Given the description of an element on the screen output the (x, y) to click on. 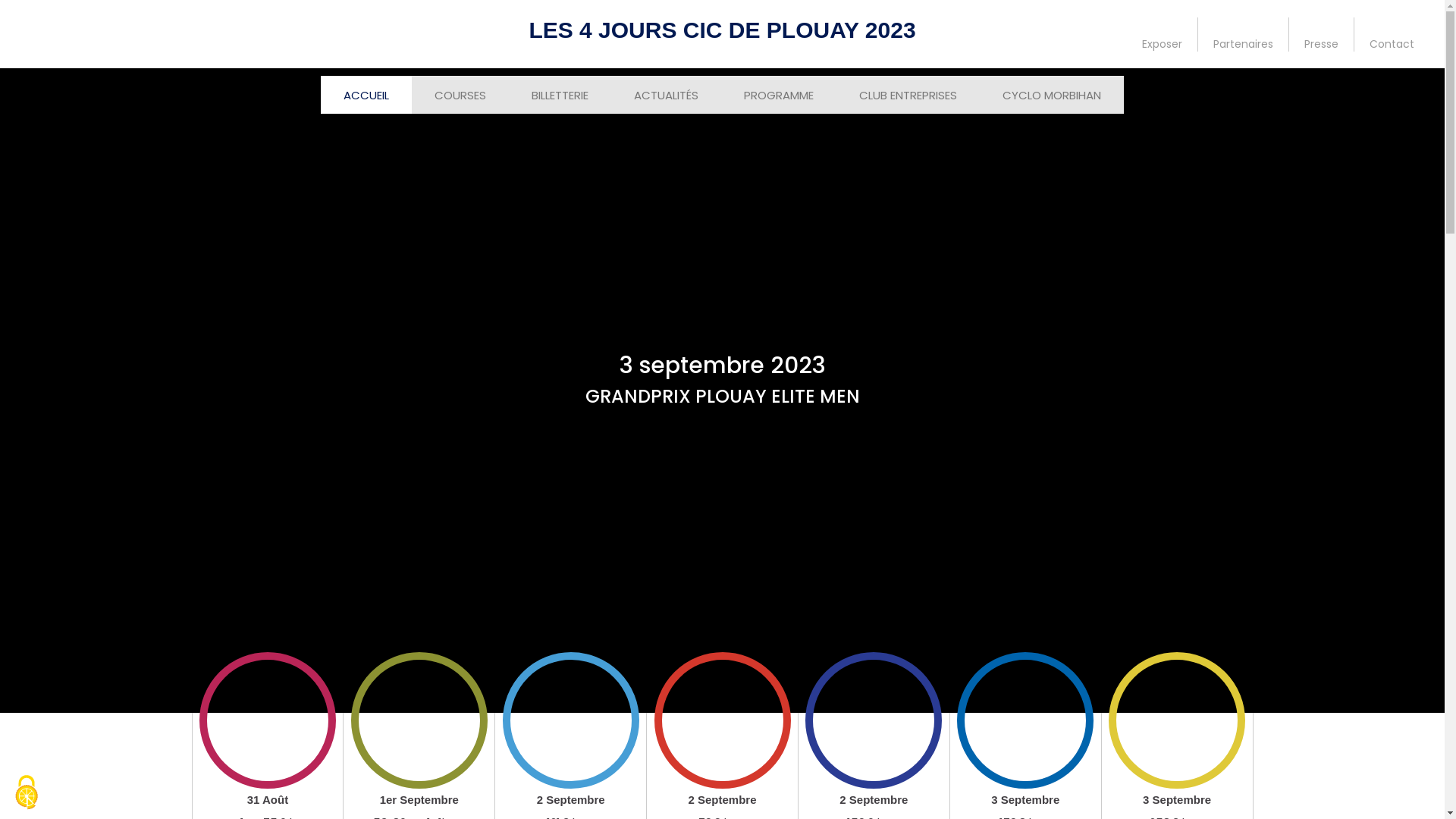
ACCUEIL Element type: text (366, 94)
Partenaires Element type: text (1243, 33)
Next Element type: text (1429, 390)
Contact Element type: text (1391, 33)
Previous Element type: text (14, 390)
Cookies (modal window) Element type: hover (26, 792)
Presse Element type: text (1321, 33)
PROGRAMME Element type: text (778, 94)
LES 4 JOURS CIC DE PLOUAY 2023 Element type: text (721, 29)
CYCLO MORBIHAN Element type: text (1051, 94)
Exposer Element type: text (1162, 33)
